Given the description of an element on the screen output the (x, y) to click on. 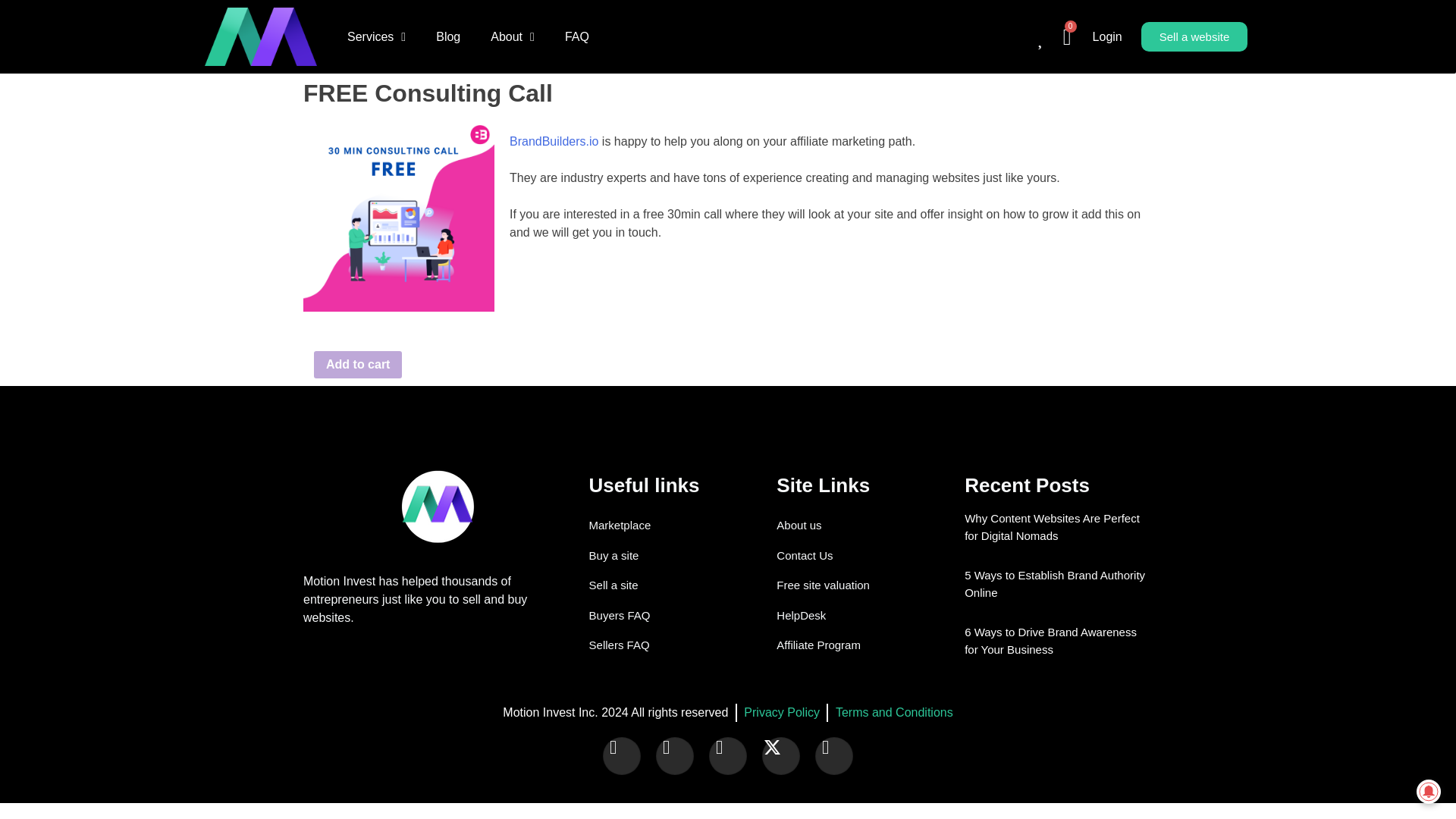
Add to cart (357, 364)
Buyers FAQ (683, 615)
Buy a site  (683, 555)
Sell a website (1194, 36)
BrandBuilders.io (553, 141)
FAQ (577, 37)
Services (375, 37)
About (513, 37)
Login (1107, 36)
Blog (448, 37)
